Given the description of an element on the screen output the (x, y) to click on. 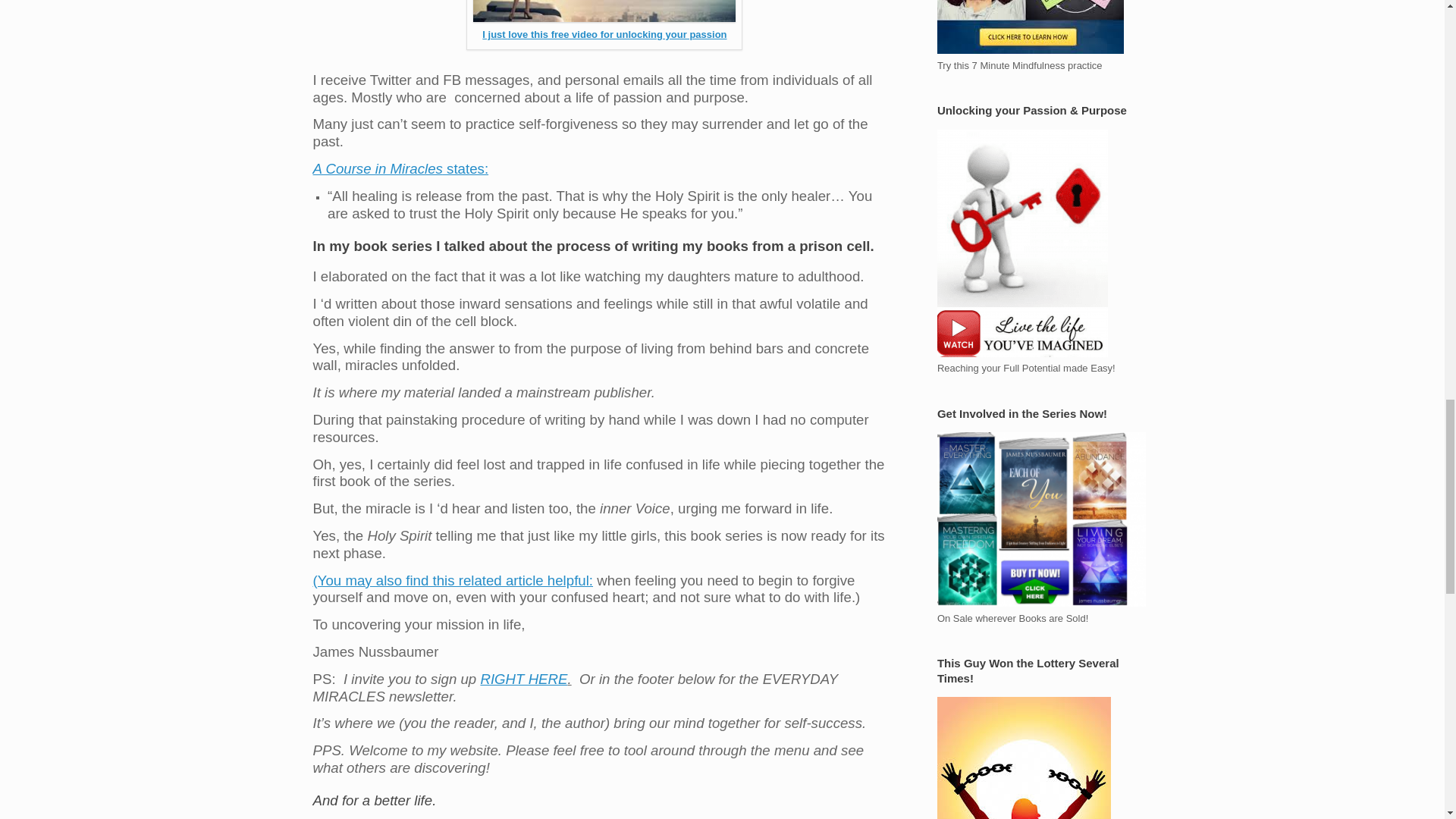
I just love this free video for unlocking your passion (603, 34)
Get Involved in the Series Now! (1041, 519)
A Course in Miracles states: (400, 170)
This Guy Won the Lottery Several Times! (1023, 757)
RIGHT HERE (523, 678)
